Given the description of an element on the screen output the (x, y) to click on. 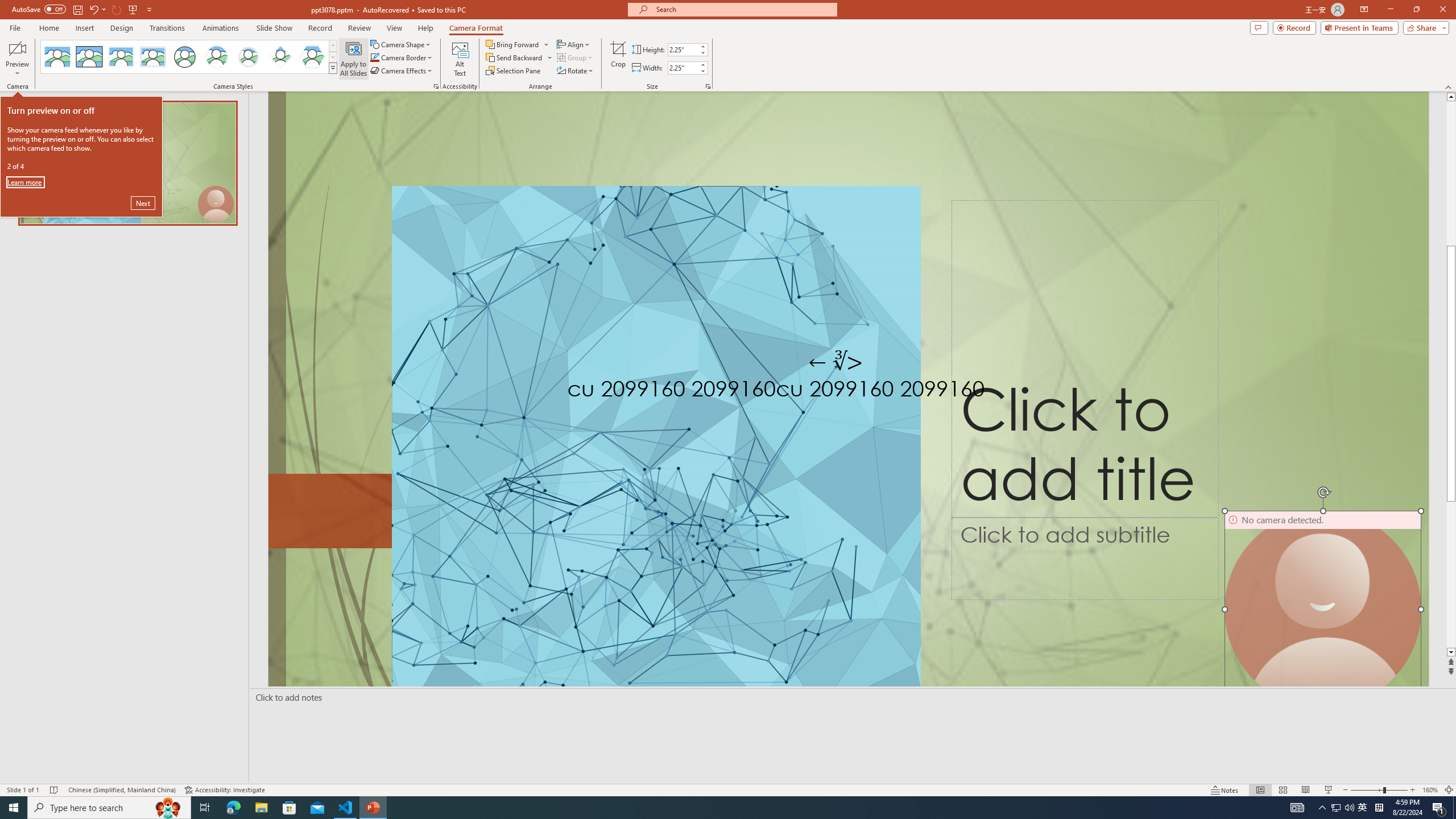
Bring Forward (513, 44)
